Given the description of an element on the screen output the (x, y) to click on. 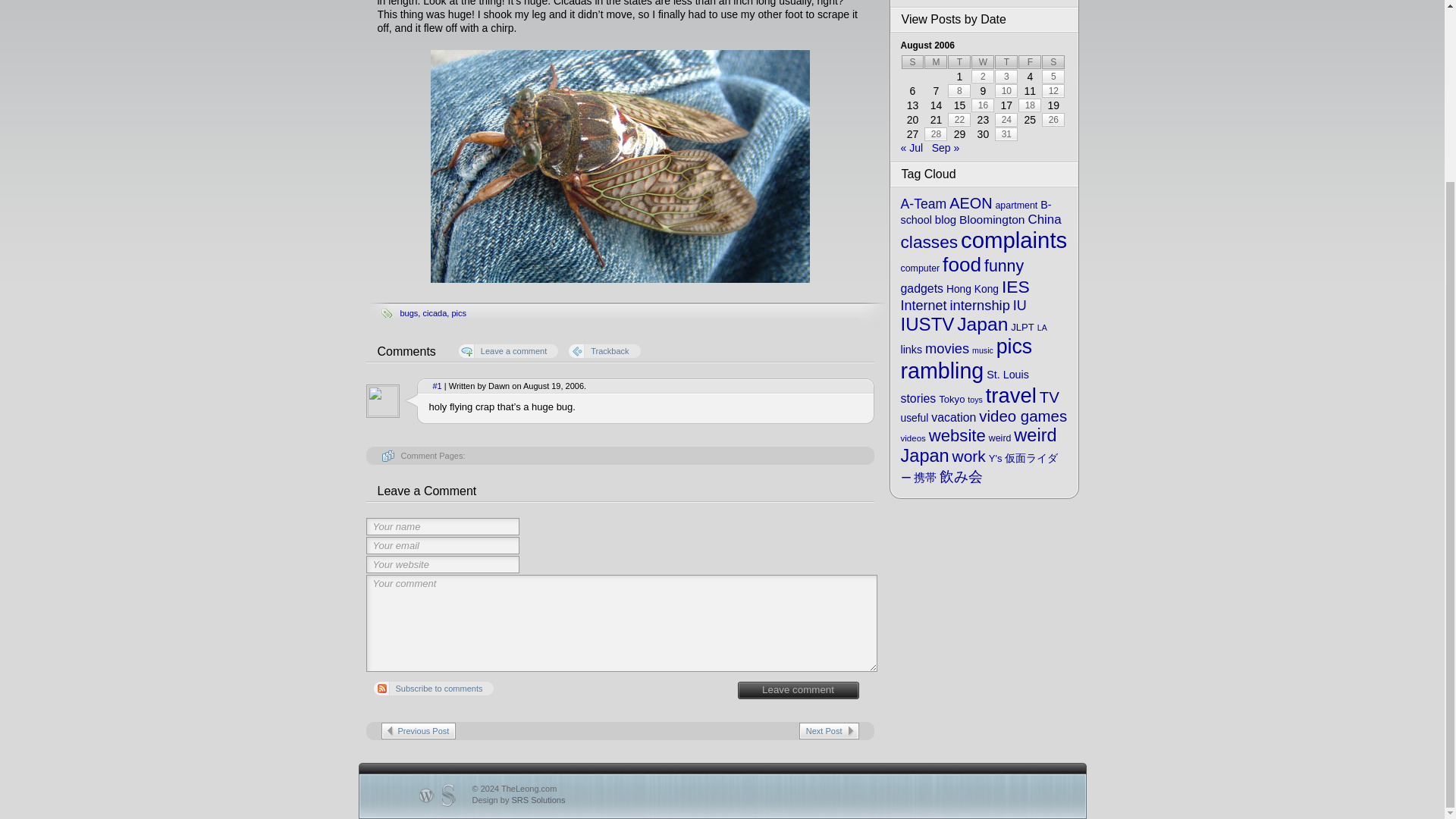
16 (982, 105)
Monday (935, 61)
cicada (434, 312)
Saturday (1053, 61)
Leave comment (797, 690)
Subscribe to comments (432, 688)
bugs (409, 312)
26 (1053, 119)
5 (1053, 76)
Web Design by SRS Solutions (517, 799)
